Given the description of an element on the screen output the (x, y) to click on. 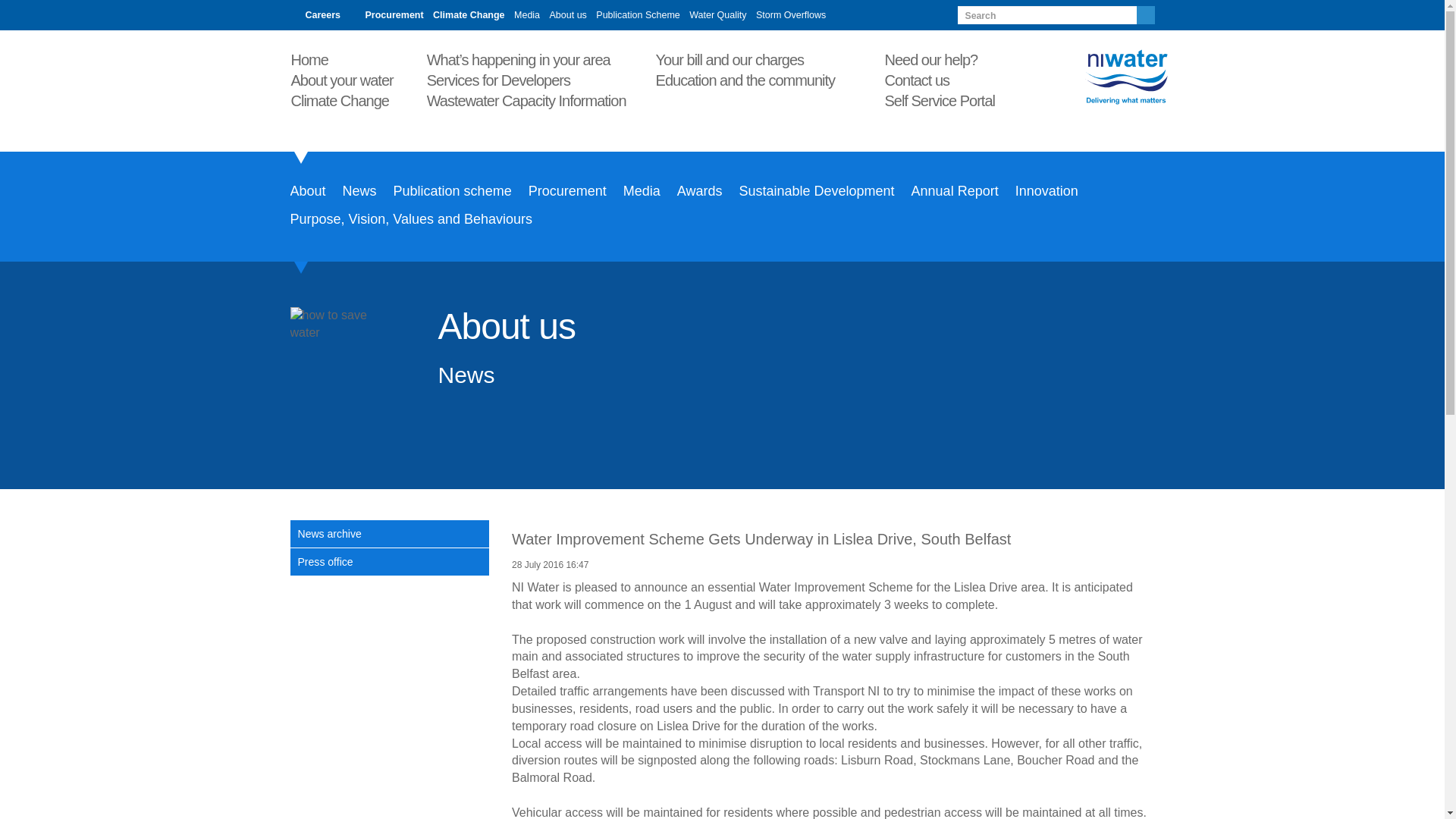
Your bill and our charges (737, 58)
Publication Scheme (637, 15)
Education and the community (753, 78)
Sustainable Development (815, 191)
go to homepage (1091, 76)
Annual Report (954, 191)
About us (568, 15)
Climate Change (347, 99)
Home (317, 58)
Water Quality (716, 15)
